Given the description of an element on the screen output the (x, y) to click on. 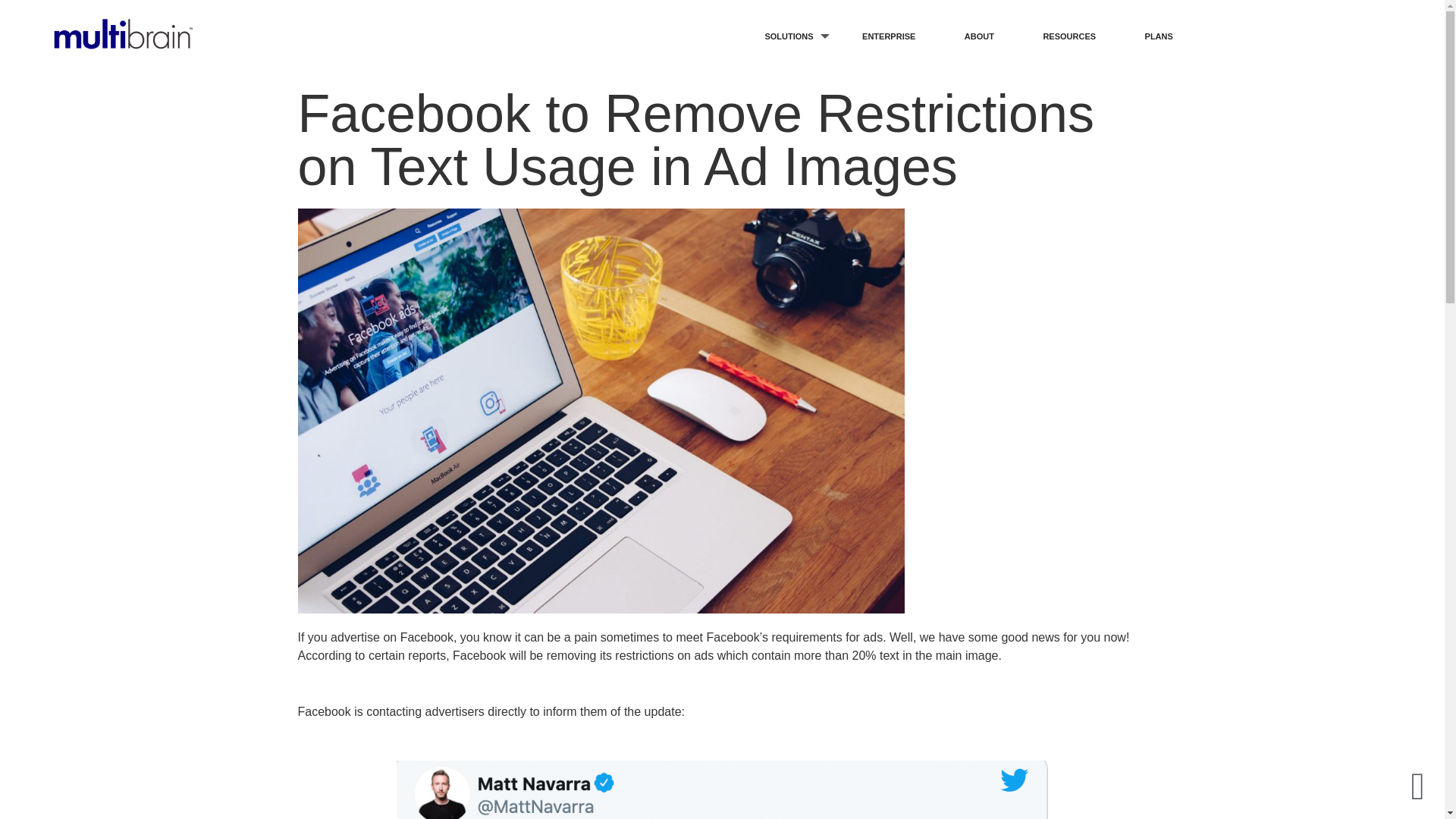
RESOURCES (1068, 37)
ENTERPRISE (888, 37)
SOLUTIONS (788, 36)
ABOUT (979, 37)
PLANS (1159, 37)
